Given the description of an element on the screen output the (x, y) to click on. 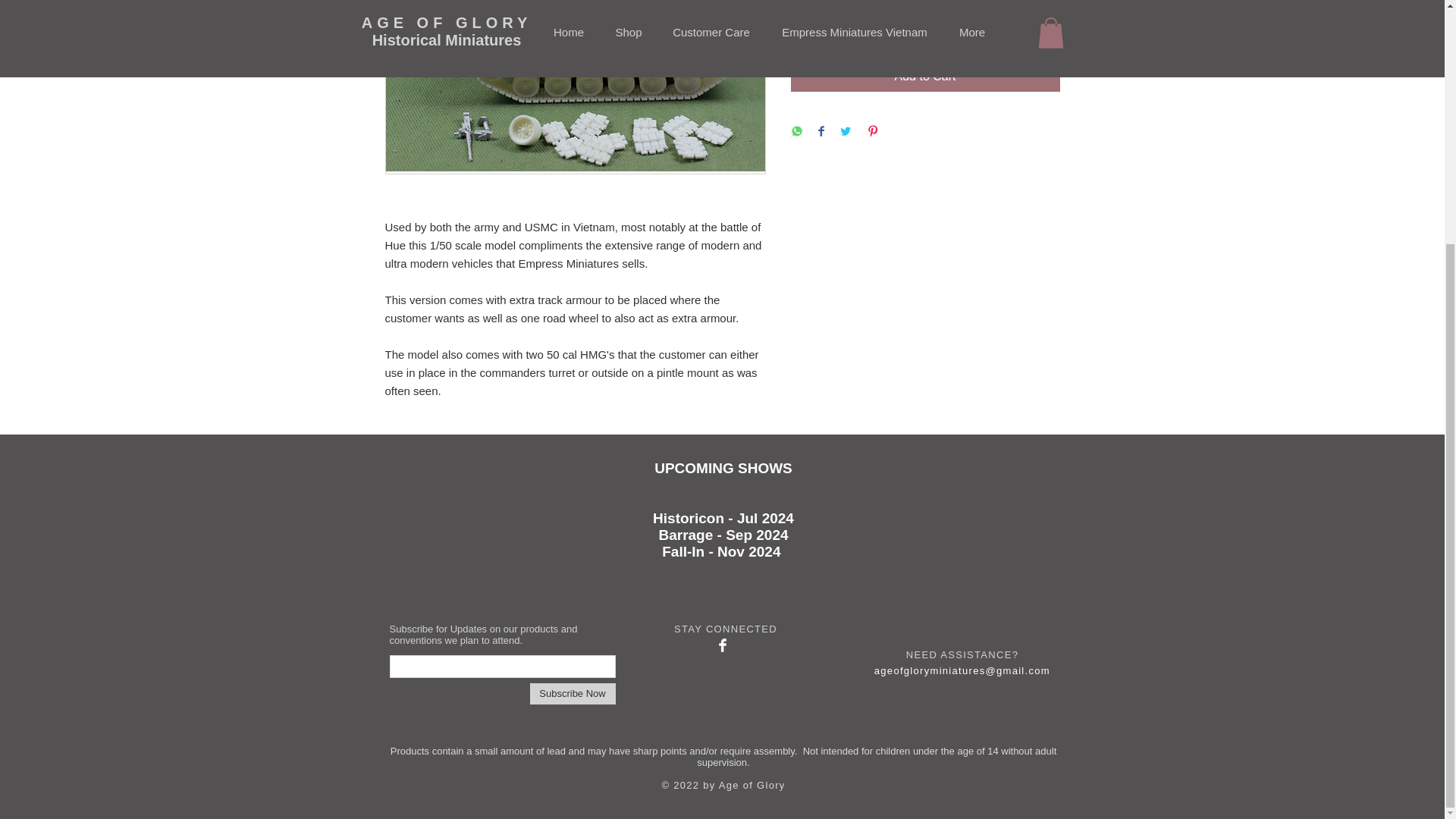
Add to Cart (924, 76)
1 (818, 20)
Subscribe Now (571, 693)
